Given the description of an element on the screen output the (x, y) to click on. 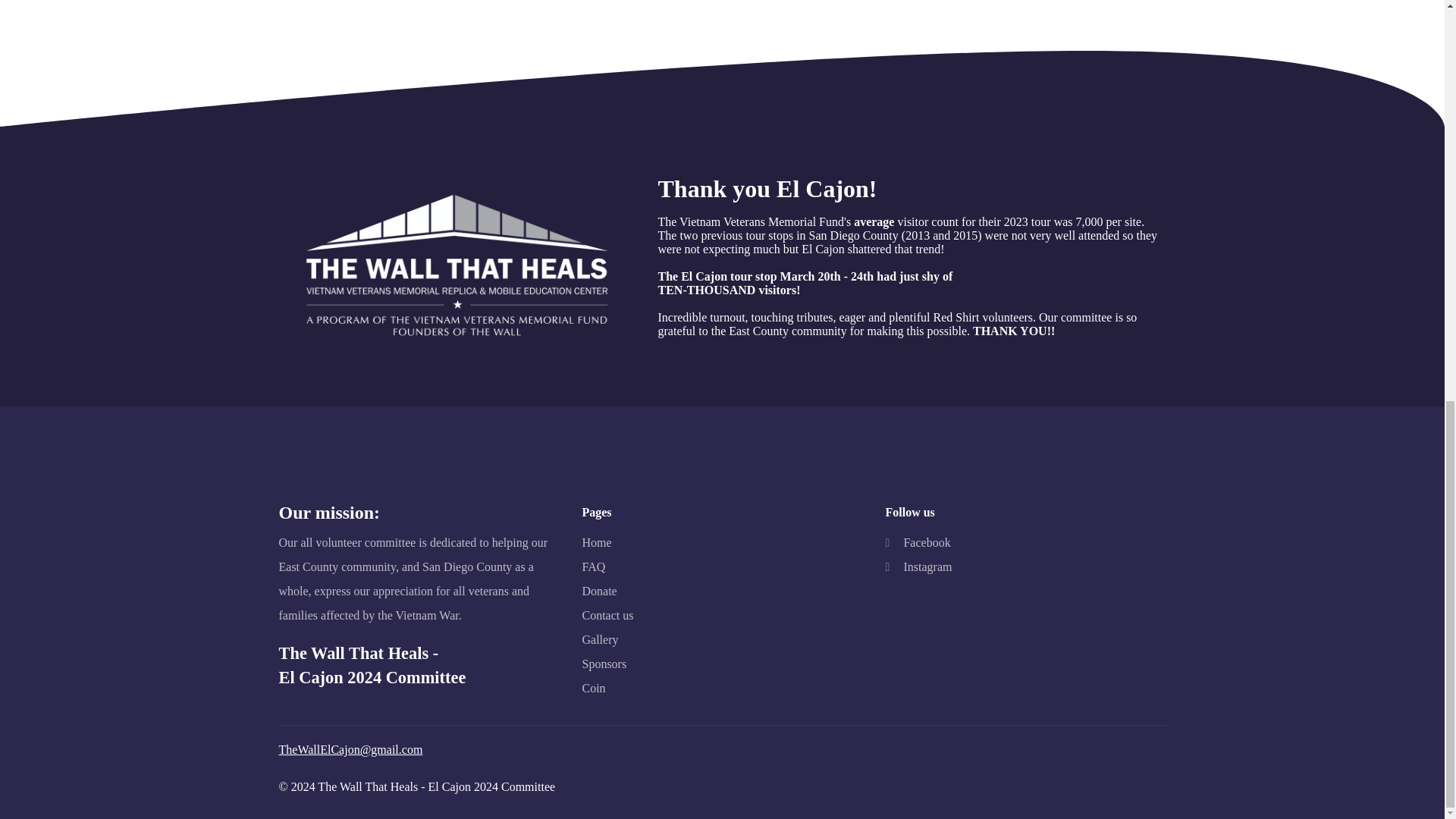
Gallery (598, 639)
Instagram (918, 567)
Donate (597, 591)
Facebook (917, 542)
Coin (592, 688)
FAQ (592, 567)
Sponsors (603, 663)
Home (595, 542)
Contact us (606, 615)
